Given the description of an element on the screen output the (x, y) to click on. 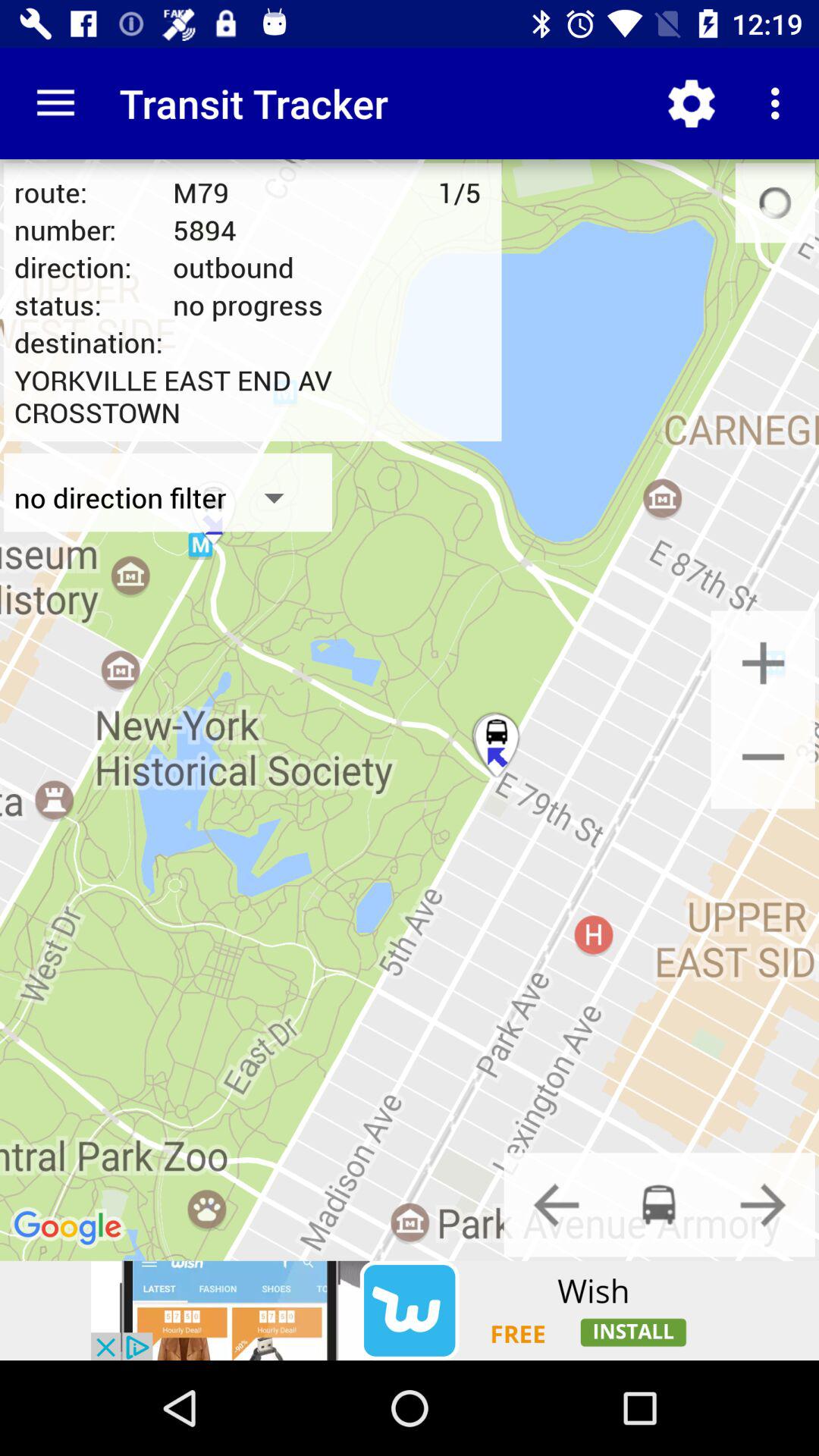
go to previous (555, 1204)
